Given the description of an element on the screen output the (x, y) to click on. 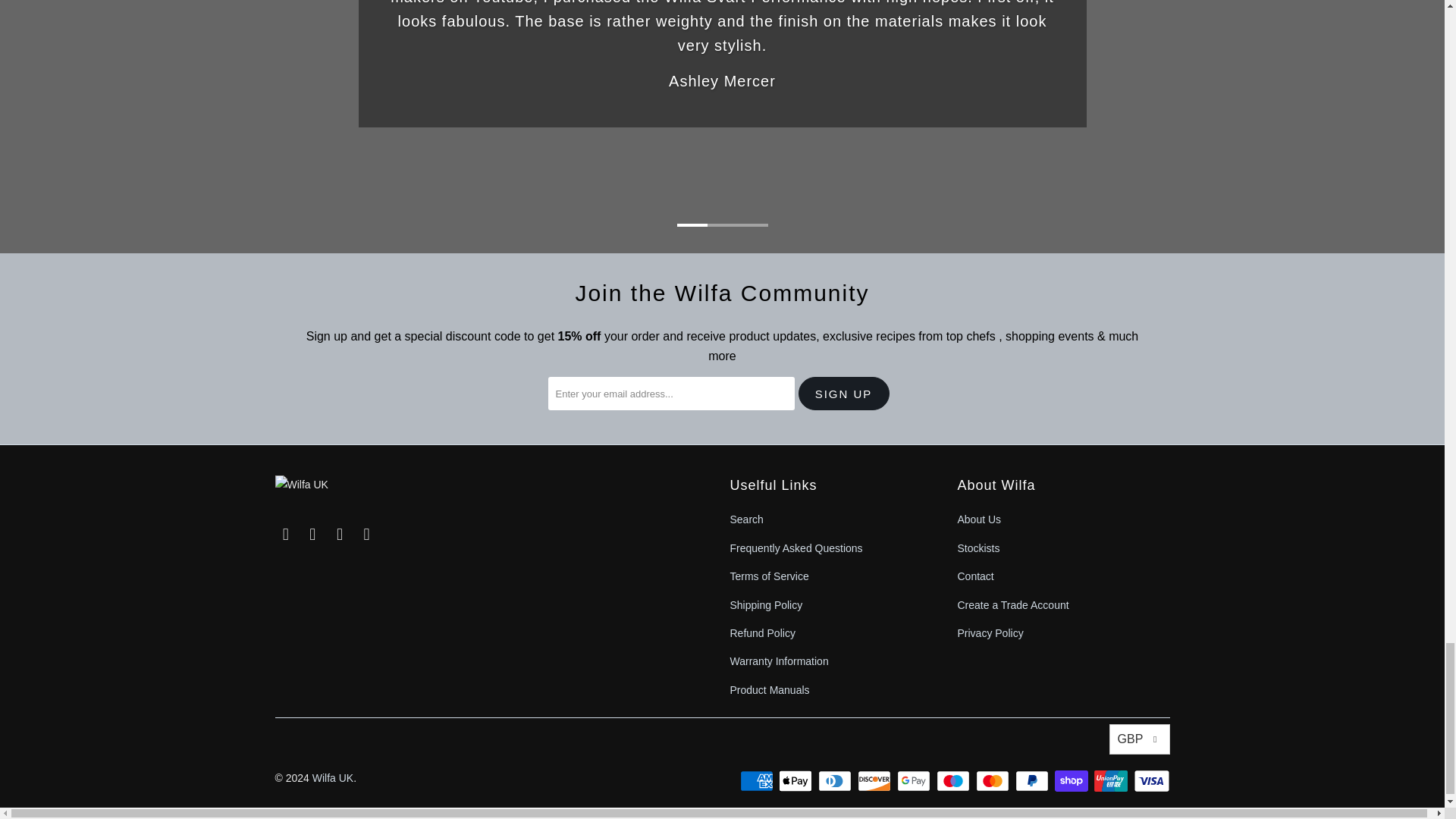
Sign Up (842, 393)
